Given the description of an element on the screen output the (x, y) to click on. 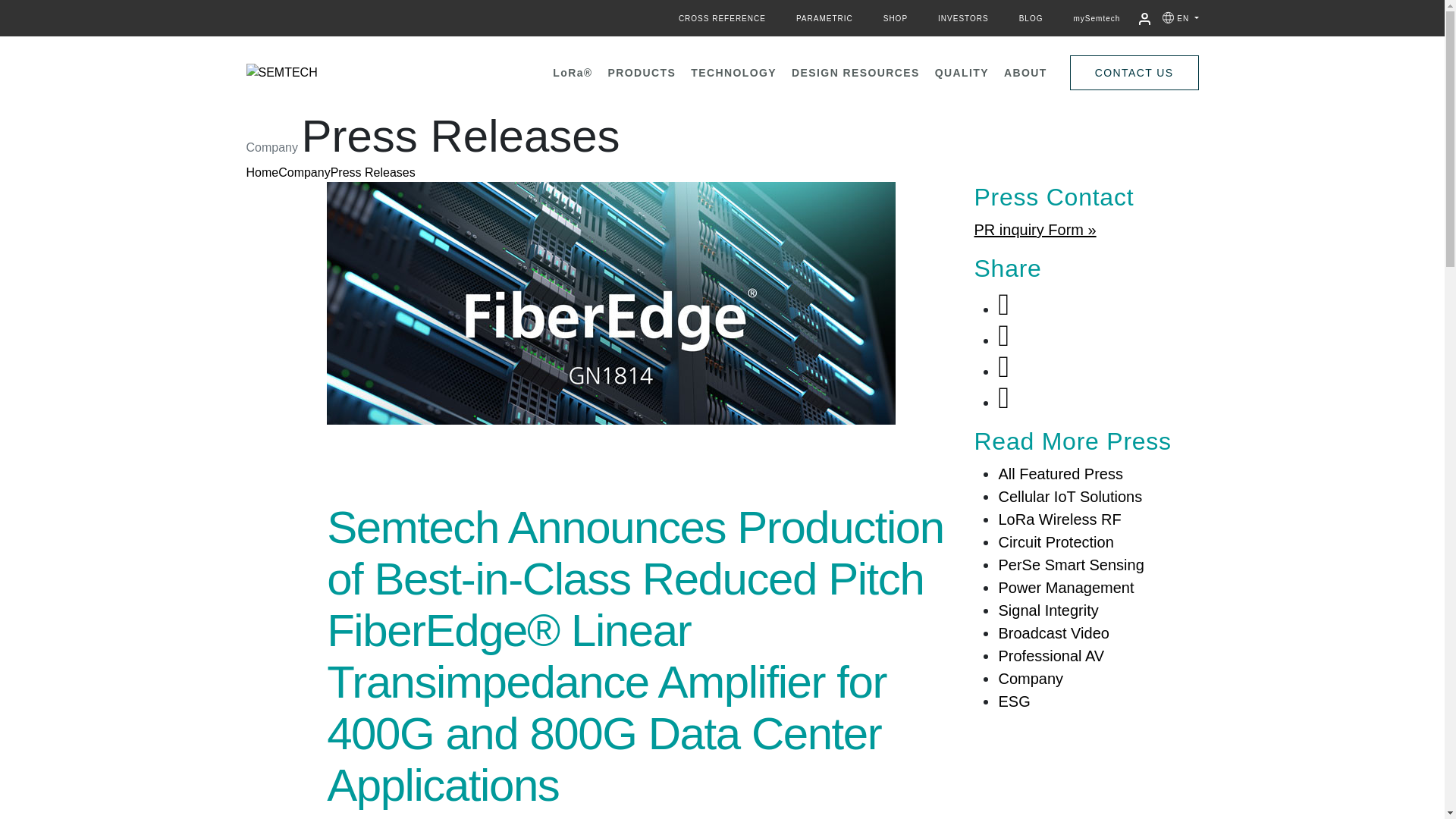
PARAMETRIC (823, 17)
INVESTORS (963, 17)
EN (1187, 17)
smtc (329, 72)
SHOP (895, 17)
CROSS REFERENCE (721, 17)
mySemtech (1096, 18)
BLOG (1031, 17)
